Given the description of an element on the screen output the (x, y) to click on. 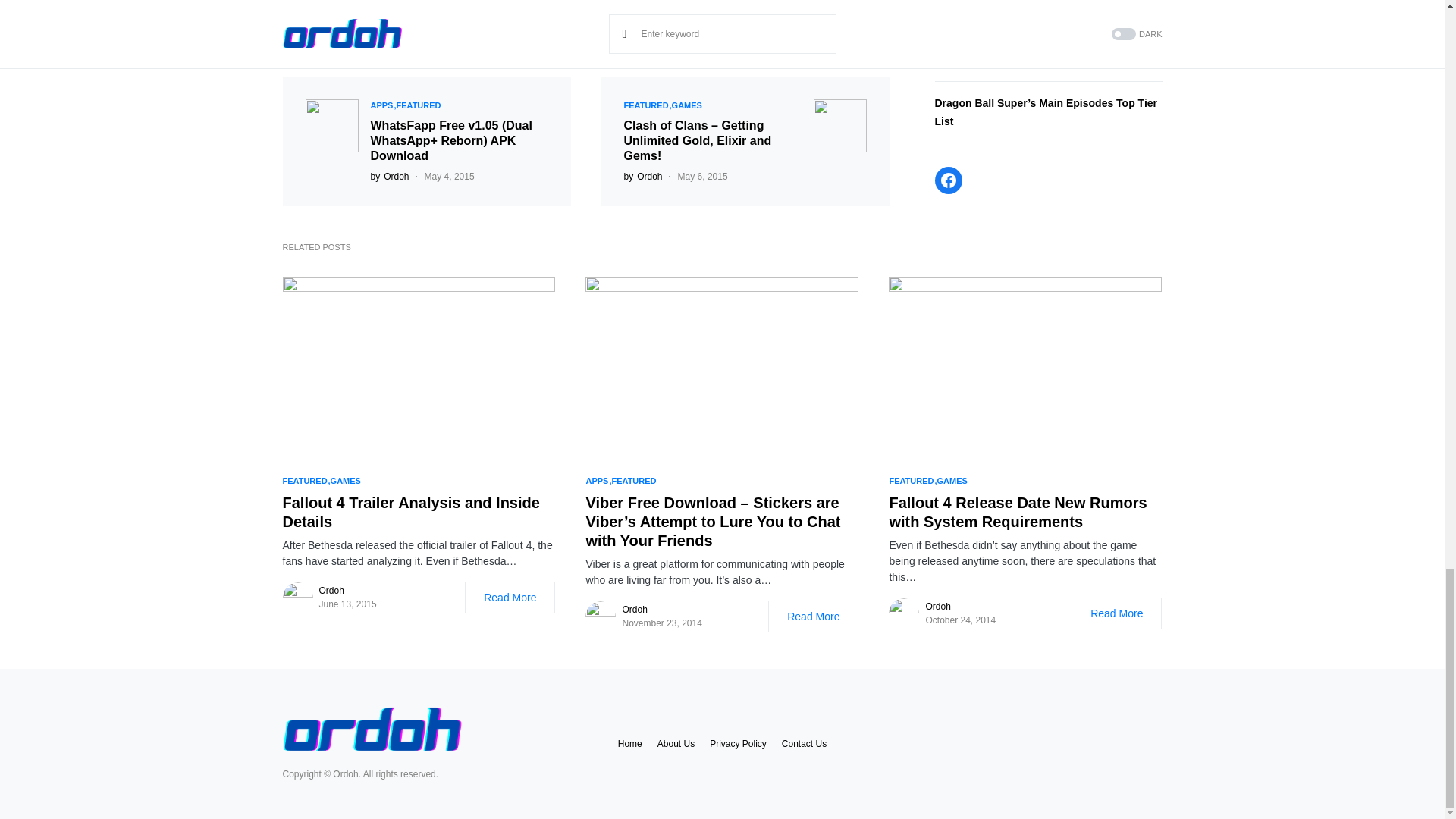
View all posts by Ordoh (642, 176)
View all posts by Ordoh (389, 176)
